Given the description of an element on the screen output the (x, y) to click on. 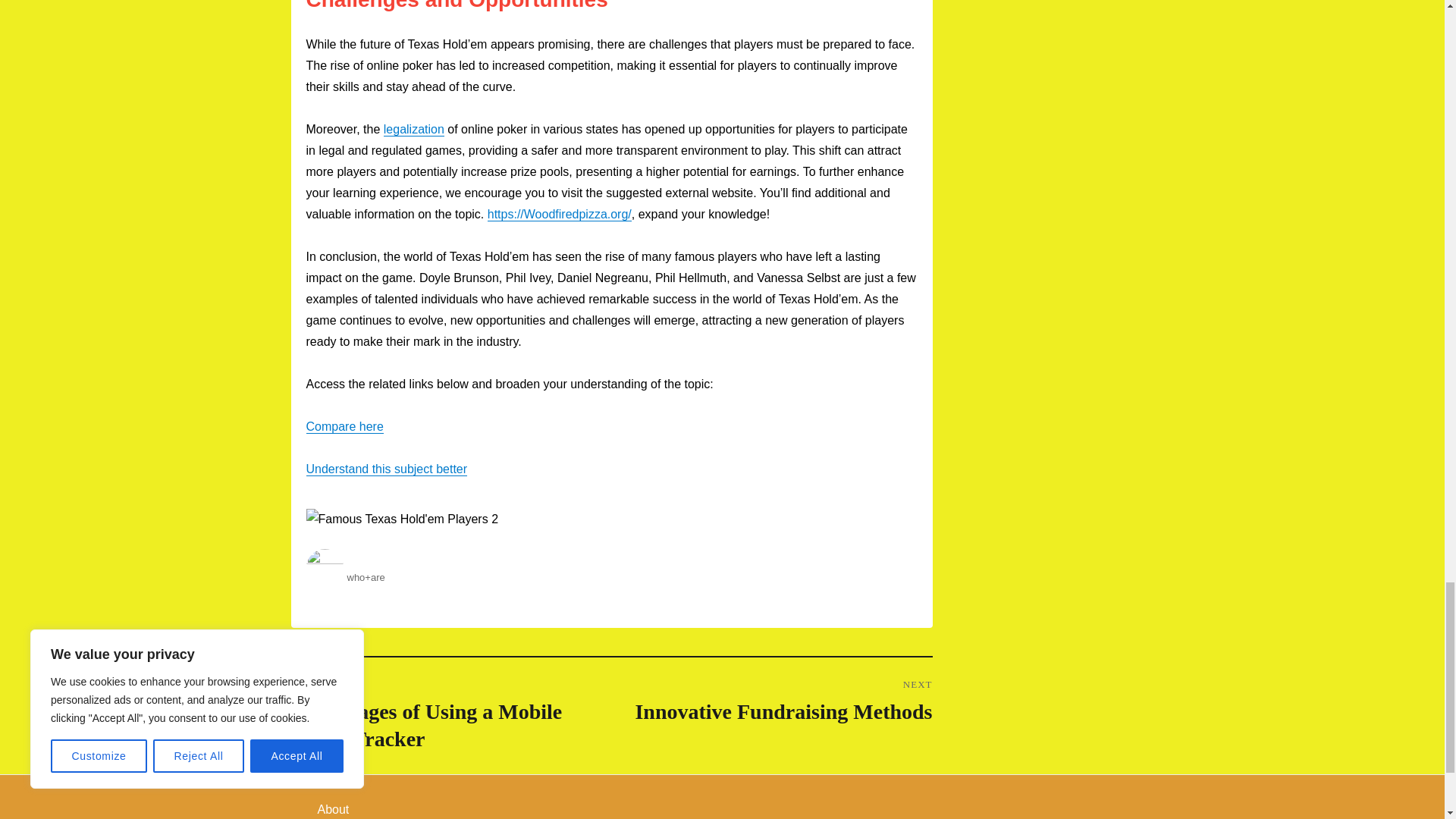
Compare here (771, 701)
legalization (344, 426)
Understand this subject better (414, 128)
